Given the description of an element on the screen output the (x, y) to click on. 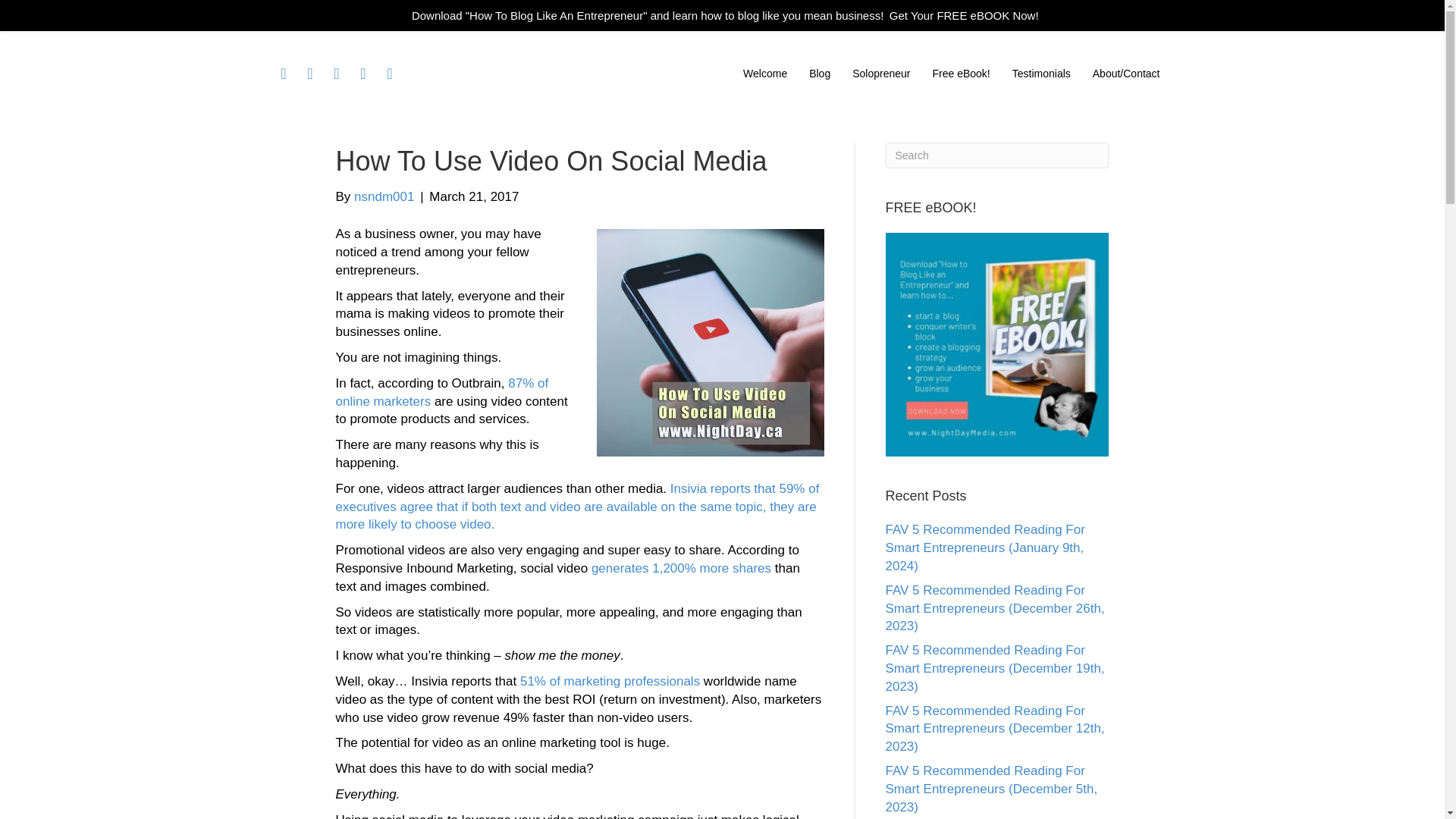
Welcome (764, 73)
Blog (819, 73)
LinkedIn (336, 72)
Instagram (362, 72)
Free eBook! (960, 73)
nsndm001 (383, 196)
Facebook (284, 72)
YouTube (389, 72)
FREE eBOOK! (997, 344)
Testimonials (1041, 73)
Type and press Enter to search. (997, 155)
Solopreneur (880, 73)
